Given the description of an element on the screen output the (x, y) to click on. 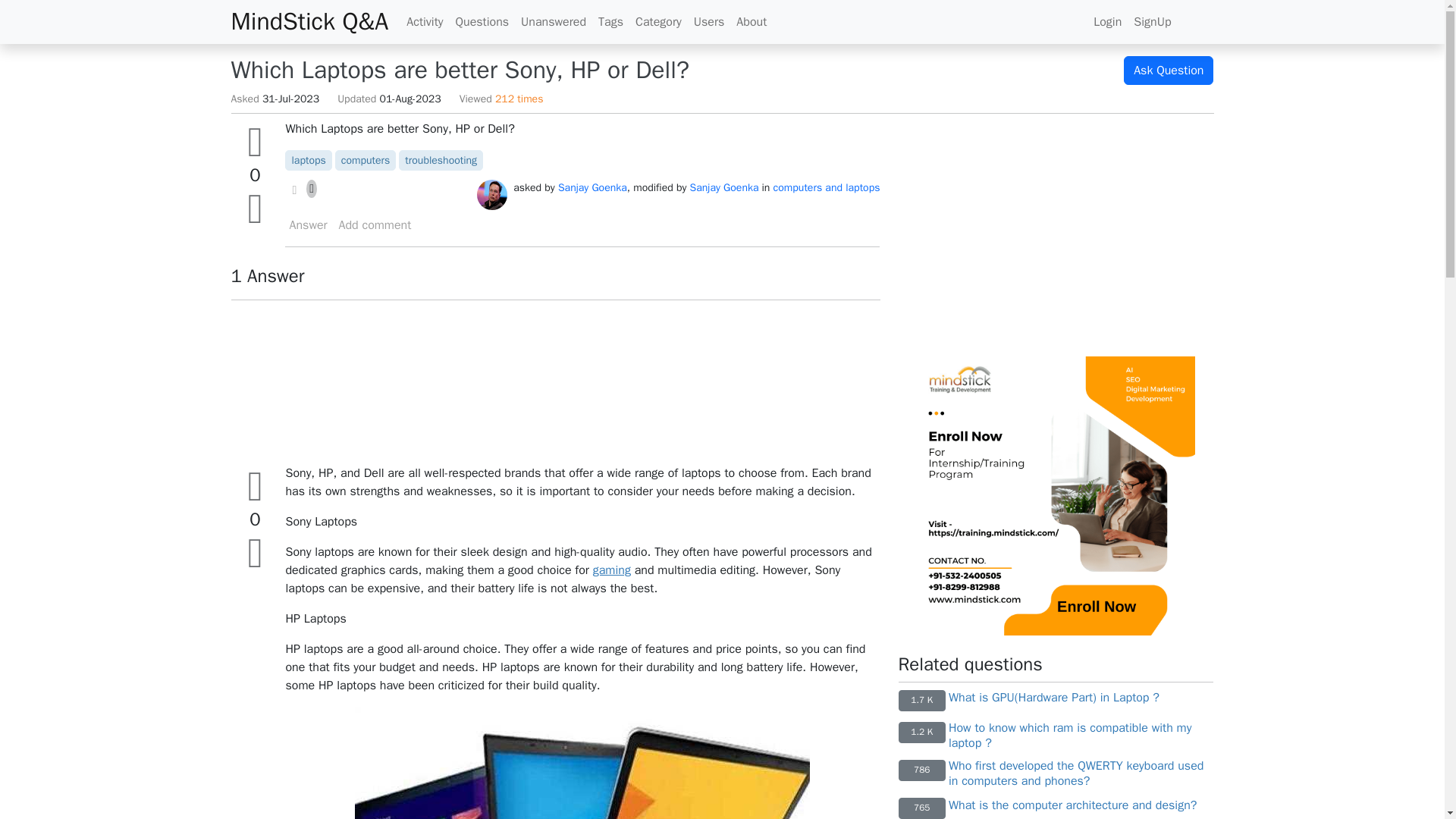
gaming (611, 570)
Unanswered (553, 21)
Sanjay Goenka (592, 187)
troubleshooting (440, 160)
Login (1106, 21)
SignUp (1151, 21)
Category (657, 21)
troubleshooting (440, 160)
laptops (307, 160)
Add comment (374, 225)
